Given the description of an element on the screen output the (x, y) to click on. 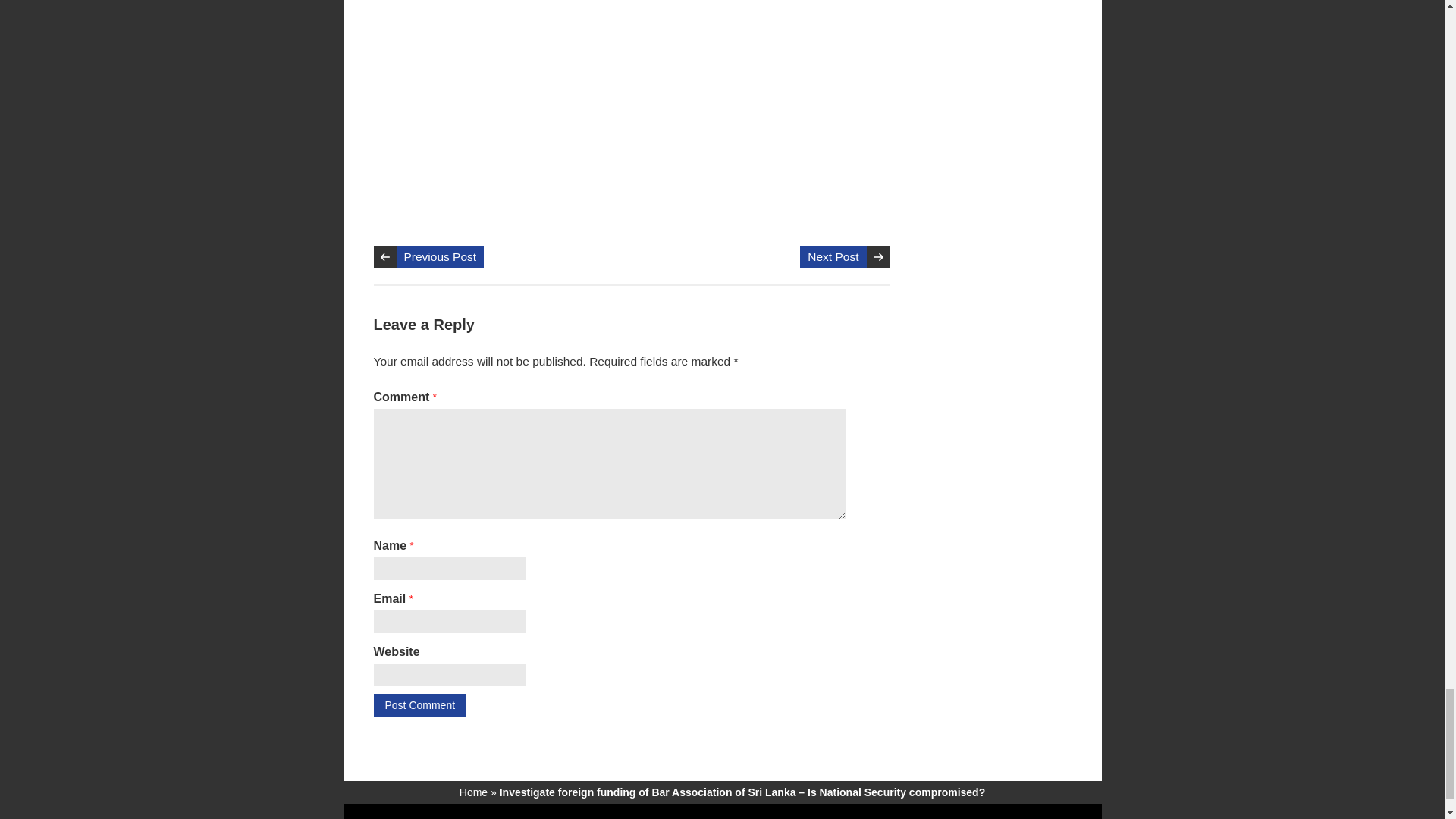
Post Comment (418, 704)
Next Post (832, 256)
Previous Post (439, 256)
Post Comment (418, 704)
